Given the description of an element on the screen output the (x, y) to click on. 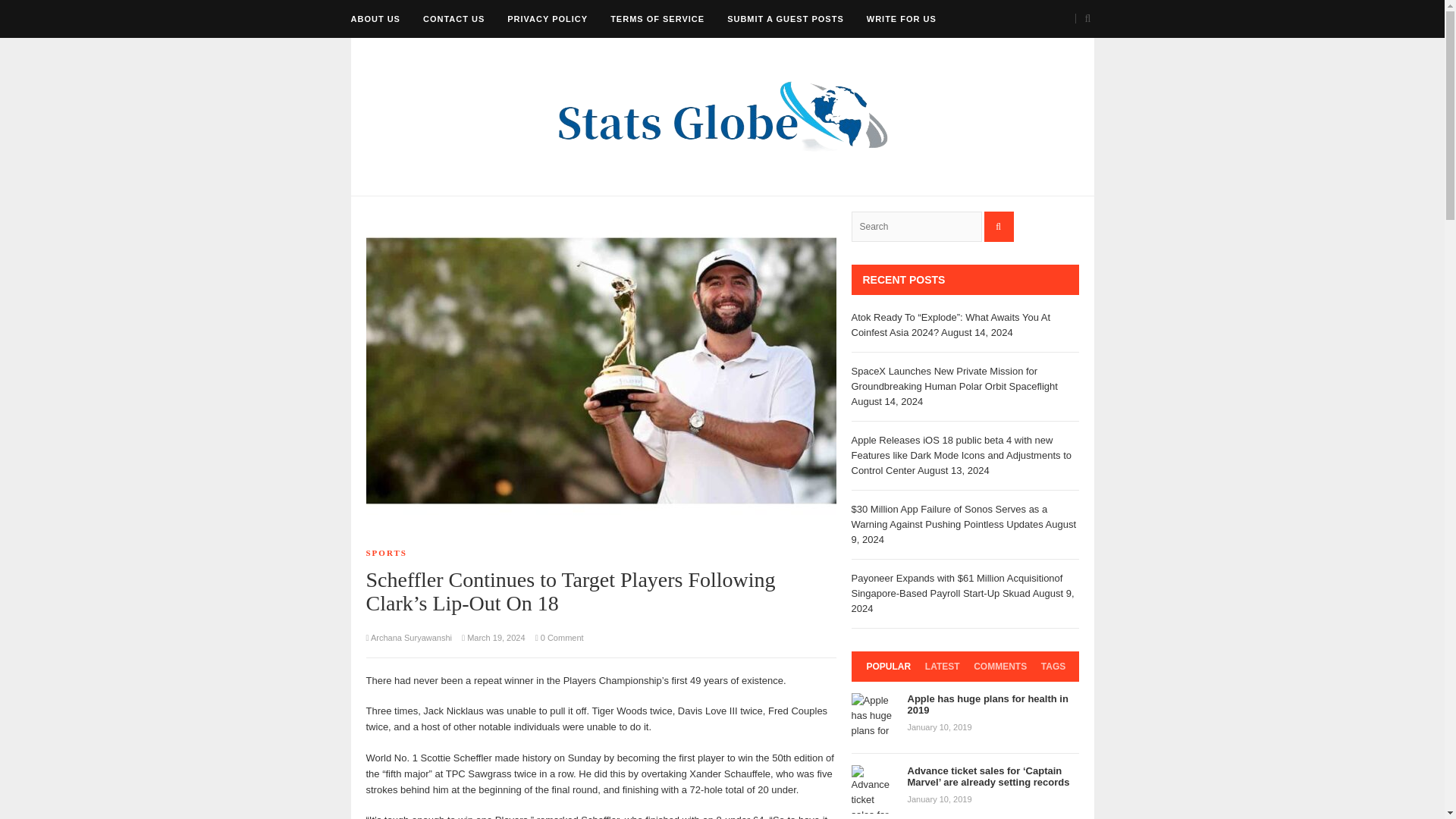
0 Comment (559, 637)
Latest (941, 666)
TERMS OF SERVICE (657, 18)
PRIVACY POLICY (547, 18)
CONTACT US (453, 18)
WRITE FOR US (901, 18)
Archana Suryawanshi (411, 637)
Popular (888, 666)
SPORTS (385, 552)
SUBMIT A GUEST POSTS (785, 18)
